Given the description of an element on the screen output the (x, y) to click on. 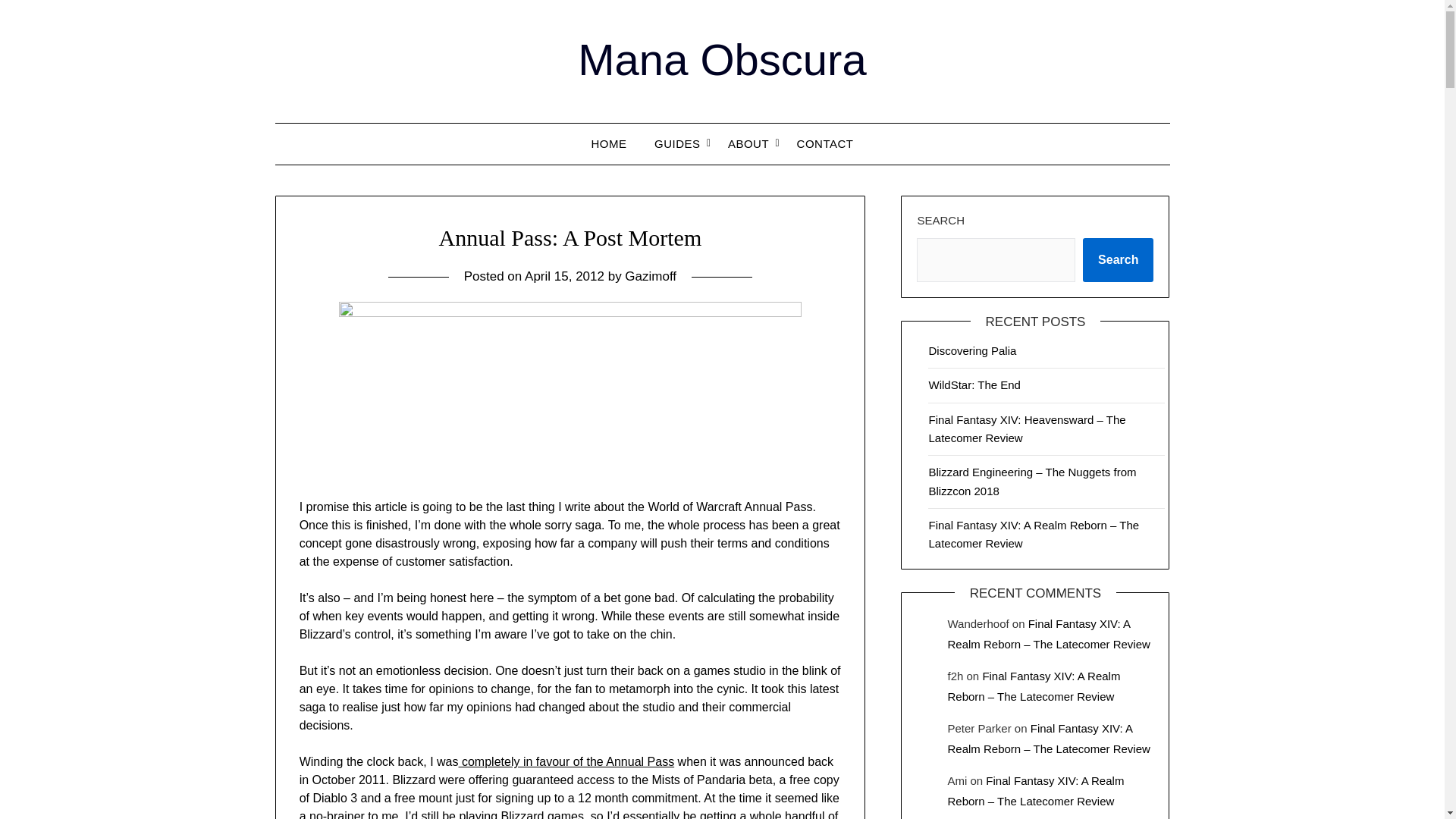
Gazimoff (650, 276)
Mana Obscura (722, 59)
CONTACT (825, 143)
completely in favour of the Annual Pass (566, 761)
GUIDES (677, 143)
April 15, 2012 (564, 276)
HOME (609, 143)
ABOUT (748, 143)
